Given the description of an element on the screen output the (x, y) to click on. 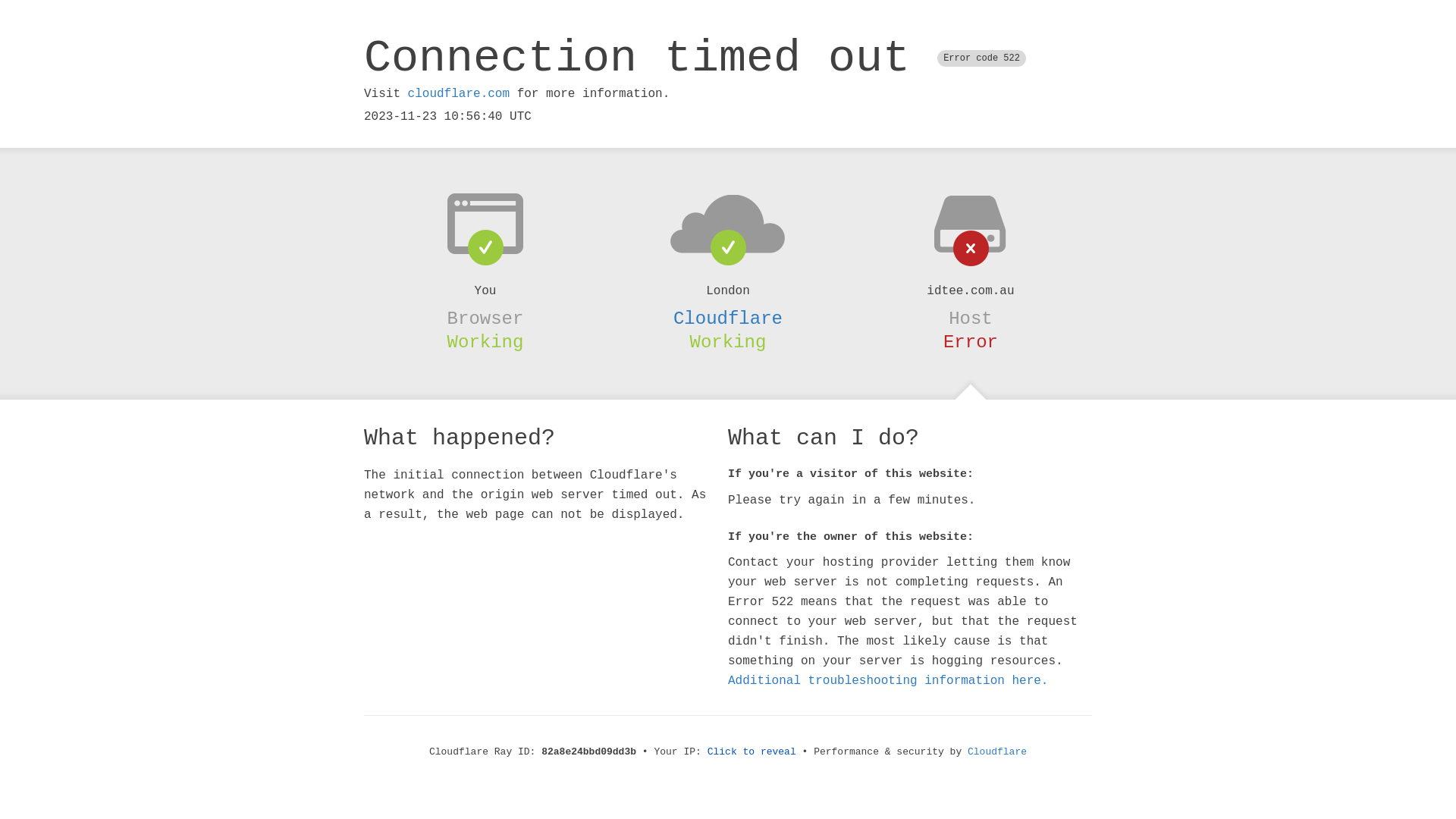
cloudflare.com Element type: text (458, 93)
Cloudflare Element type: text (996, 751)
Cloudflare Element type: text (727, 318)
Click to reveal Element type: text (751, 751)
Additional troubleshooting information here. Element type: text (888, 680)
